Given the description of an element on the screen output the (x, y) to click on. 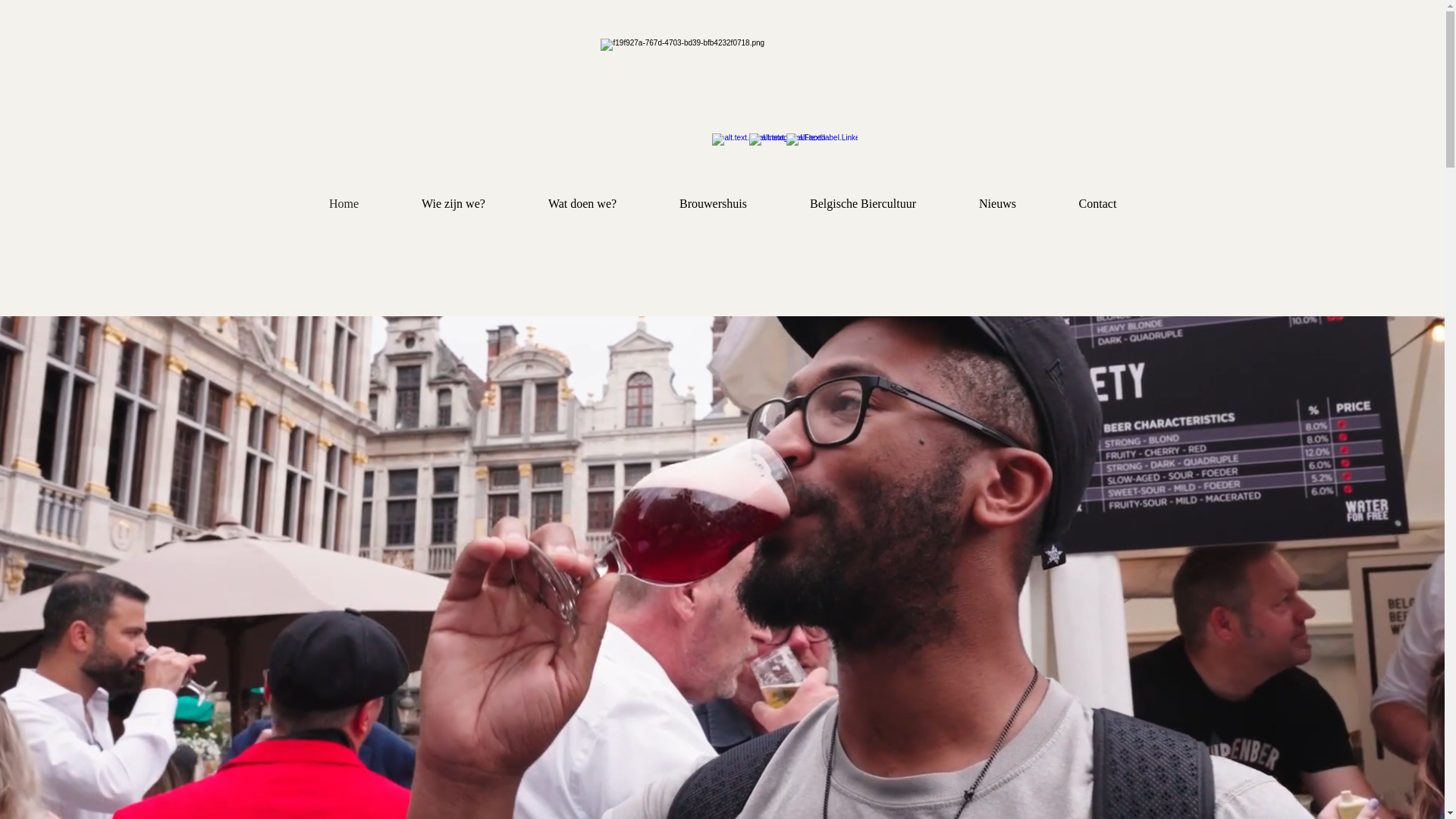
Brouwershuis Element type: text (712, 203)
Belgische Biercultuur Element type: text (862, 203)
Home Element type: text (343, 203)
Wie zijn we? Element type: text (452, 203)
Contact Element type: text (1098, 203)
Nieuws Element type: text (997, 203)
Wat doen we? Element type: text (582, 203)
